Given the description of an element on the screen output the (x, y) to click on. 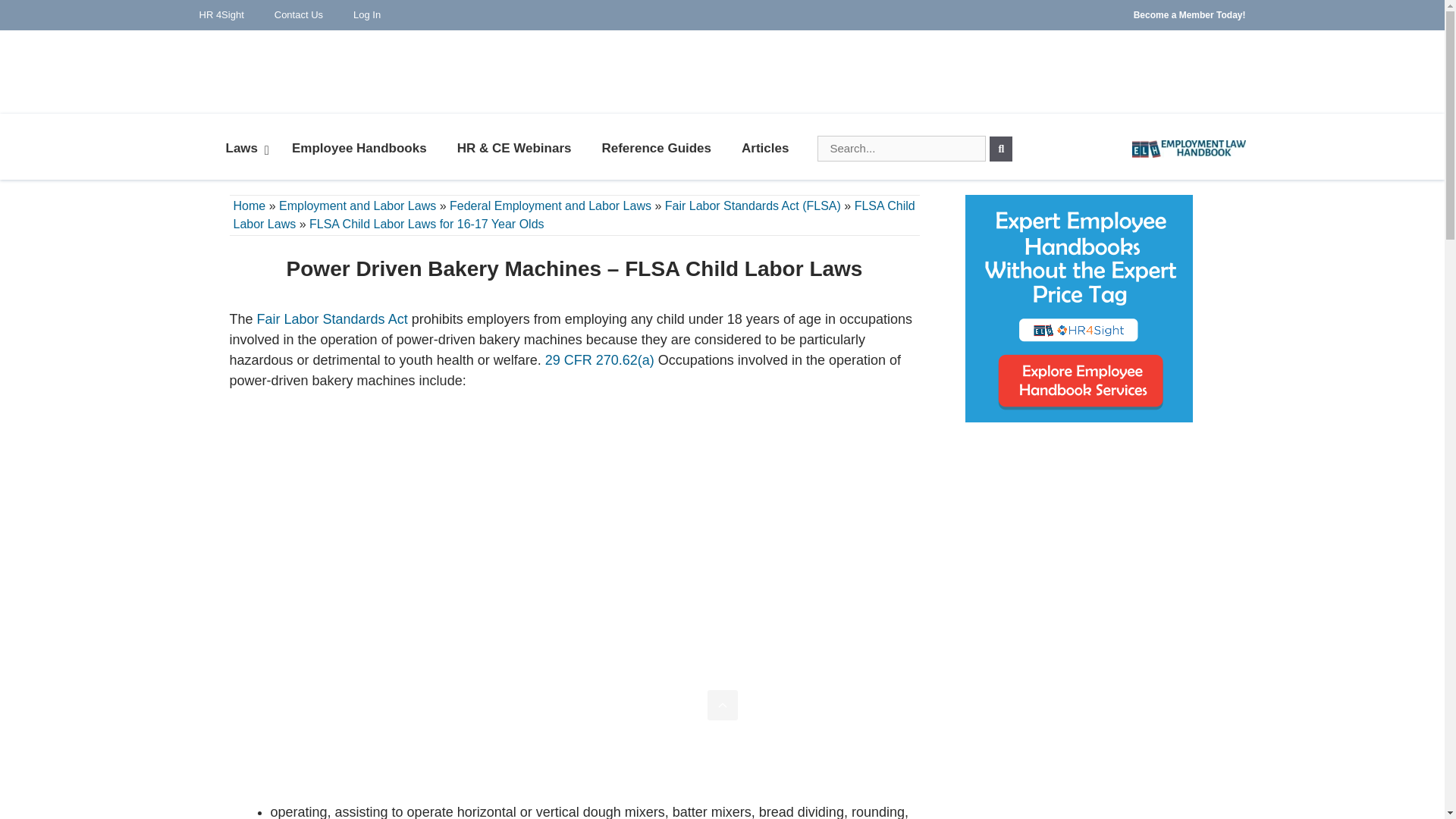
Log In (366, 15)
Fair Labor Standards Act (332, 319)
Employment and Labor Laws (357, 205)
HR 4Sight (221, 15)
Home (249, 205)
Reference Guides (656, 148)
ELH and HR 4Sight Employee Handbook Services (1077, 308)
FLSA Child Labor Laws (573, 214)
Search (1000, 148)
Articles (764, 148)
